Given the description of an element on the screen output the (x, y) to click on. 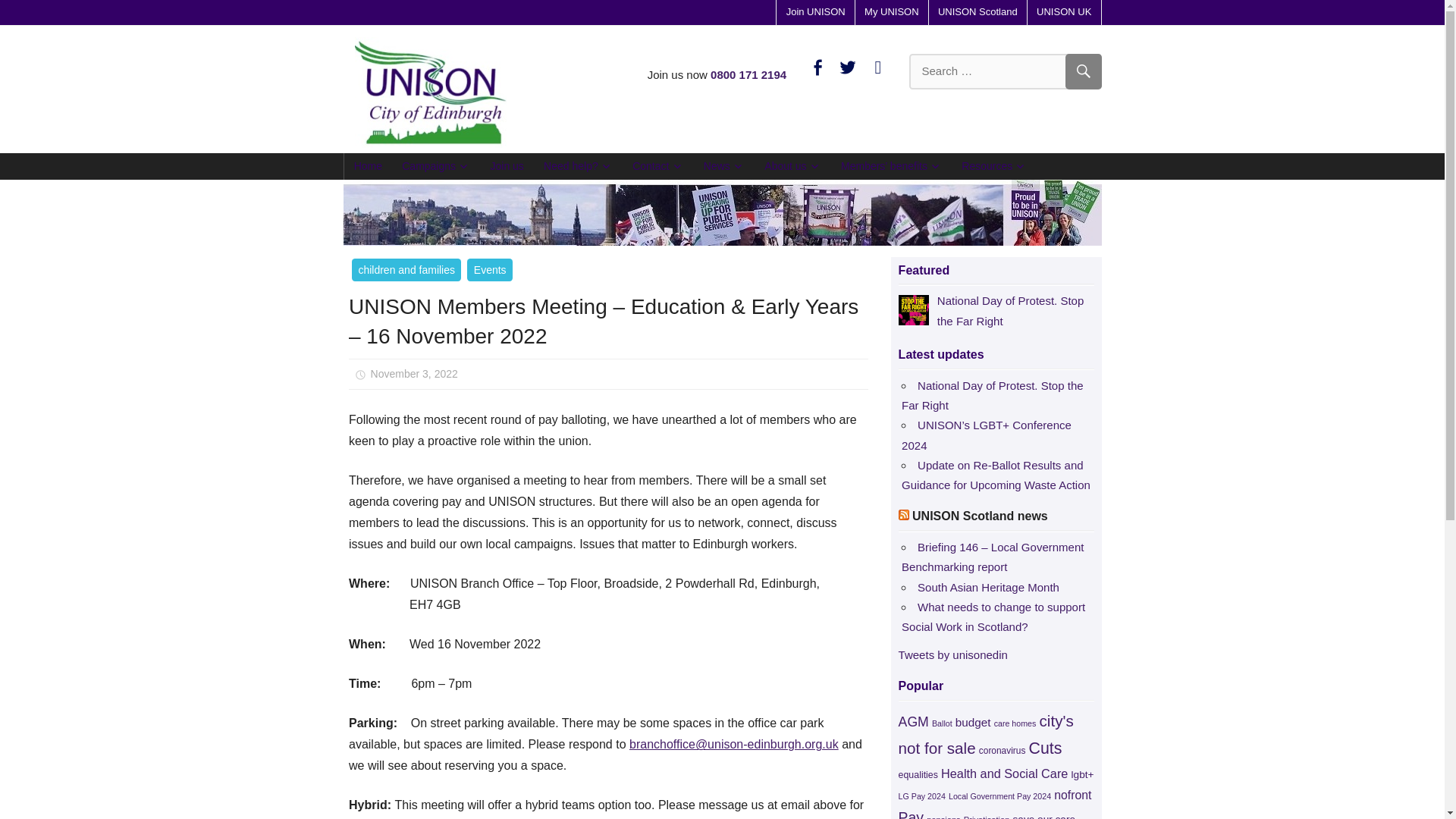
My UNISON (891, 12)
Join UNISON (814, 12)
Facebook (817, 65)
News (724, 166)
Default Label (877, 65)
Contact (658, 166)
UNISON Scotland (977, 12)
0800 171 2194 (748, 74)
Twitter (848, 65)
twitter (848, 65)
